Given the description of an element on the screen output the (x, y) to click on. 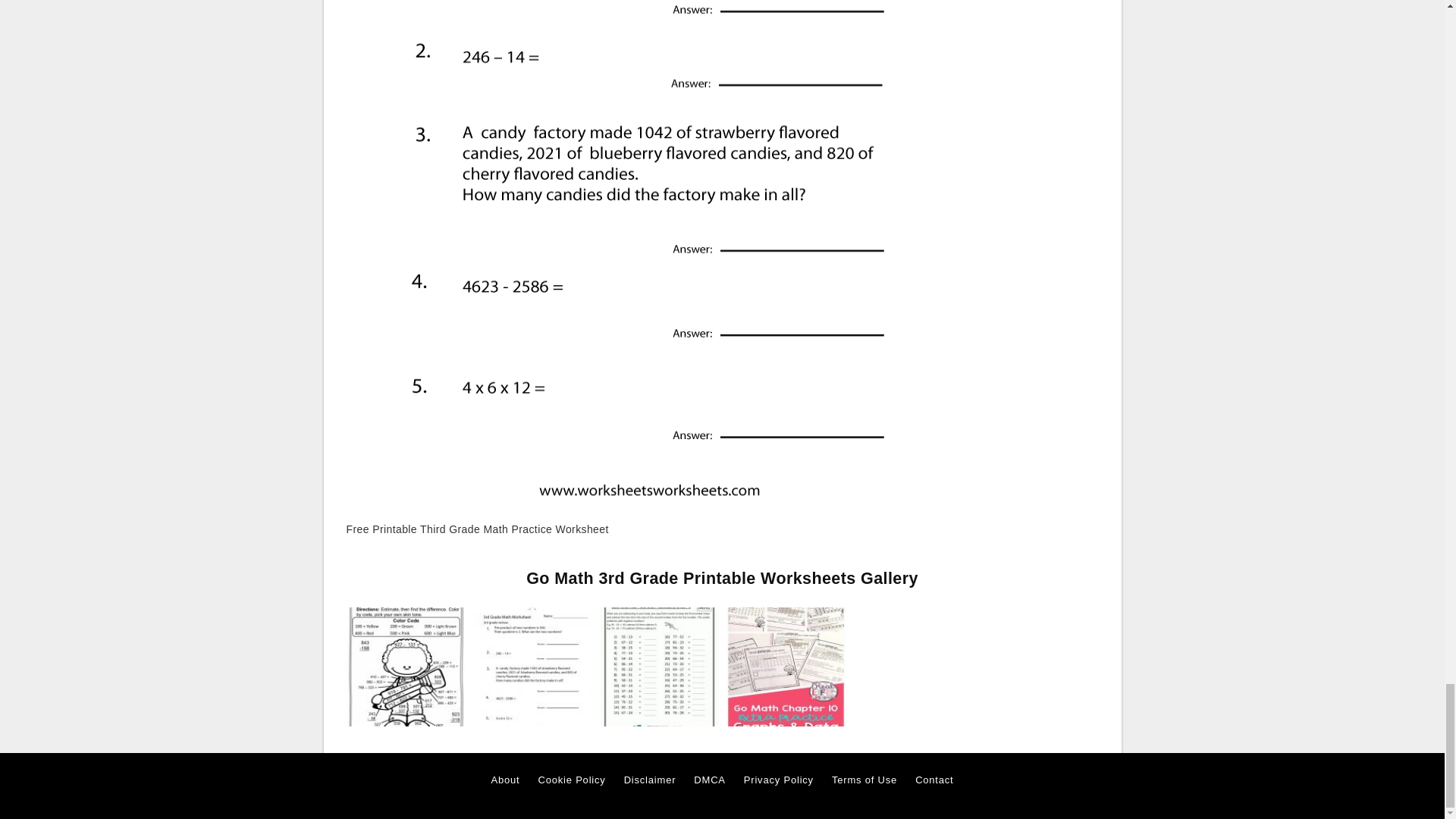
DMCA (709, 780)
Disclaimer (650, 780)
Cookie Policy (571, 780)
Contact (934, 780)
Privacy Policy (778, 780)
3Rd Grade Go Math 1.8 Rounding To Estimate Differences Color (405, 666)
About (504, 780)
Free Printable Third Grade Math Practice Worksheet (532, 666)
3Rd Grade Go Math 1.8 Rounding To Estimate Differences Color (405, 666)
Terms of Use (863, 780)
